Given the description of an element on the screen output the (x, y) to click on. 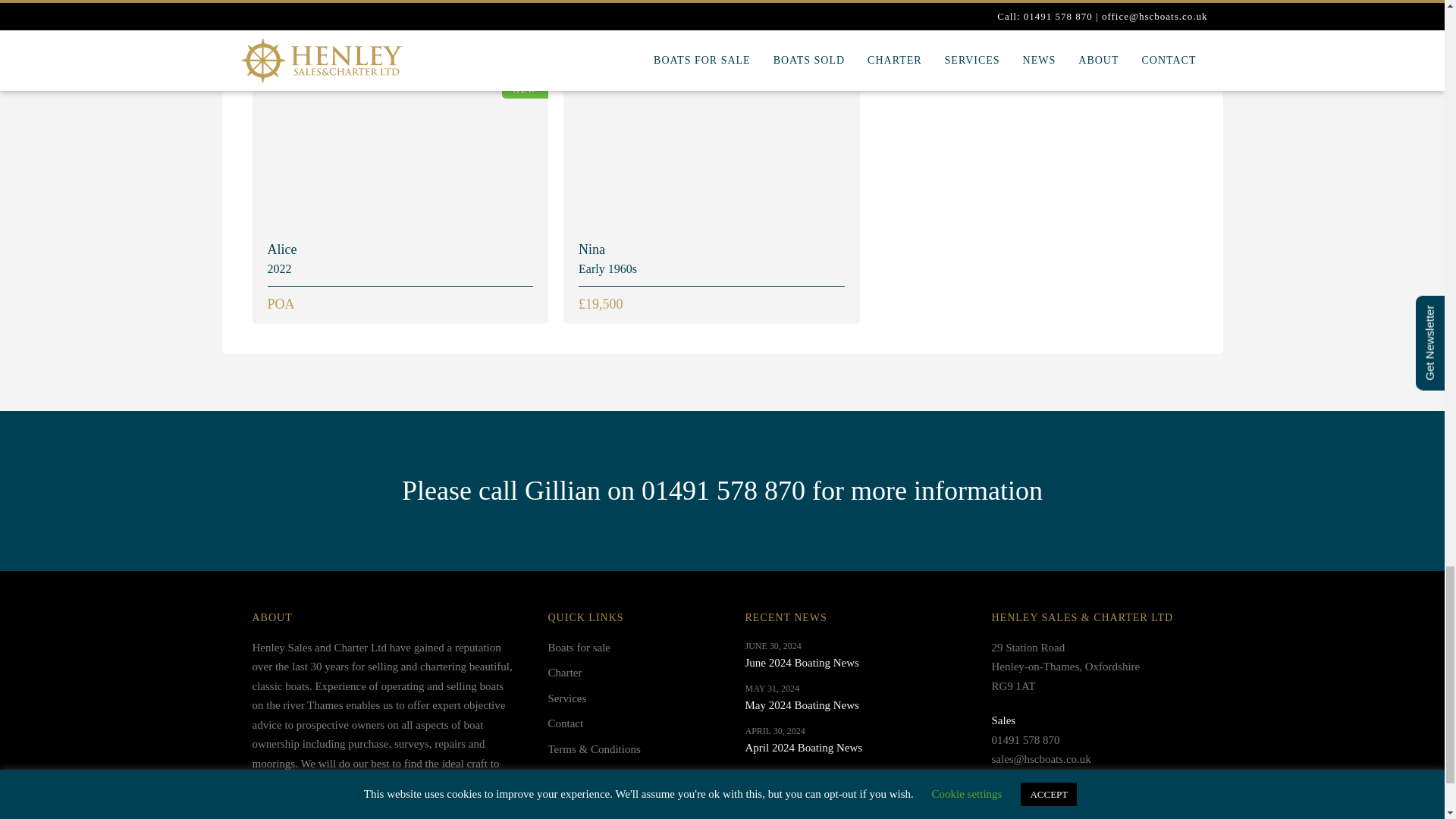
Services (601, 701)
Contact (601, 727)
Charter (601, 676)
Privacy Policy (801, 655)
Boats for sale (601, 777)
